Given the description of an element on the screen output the (x, y) to click on. 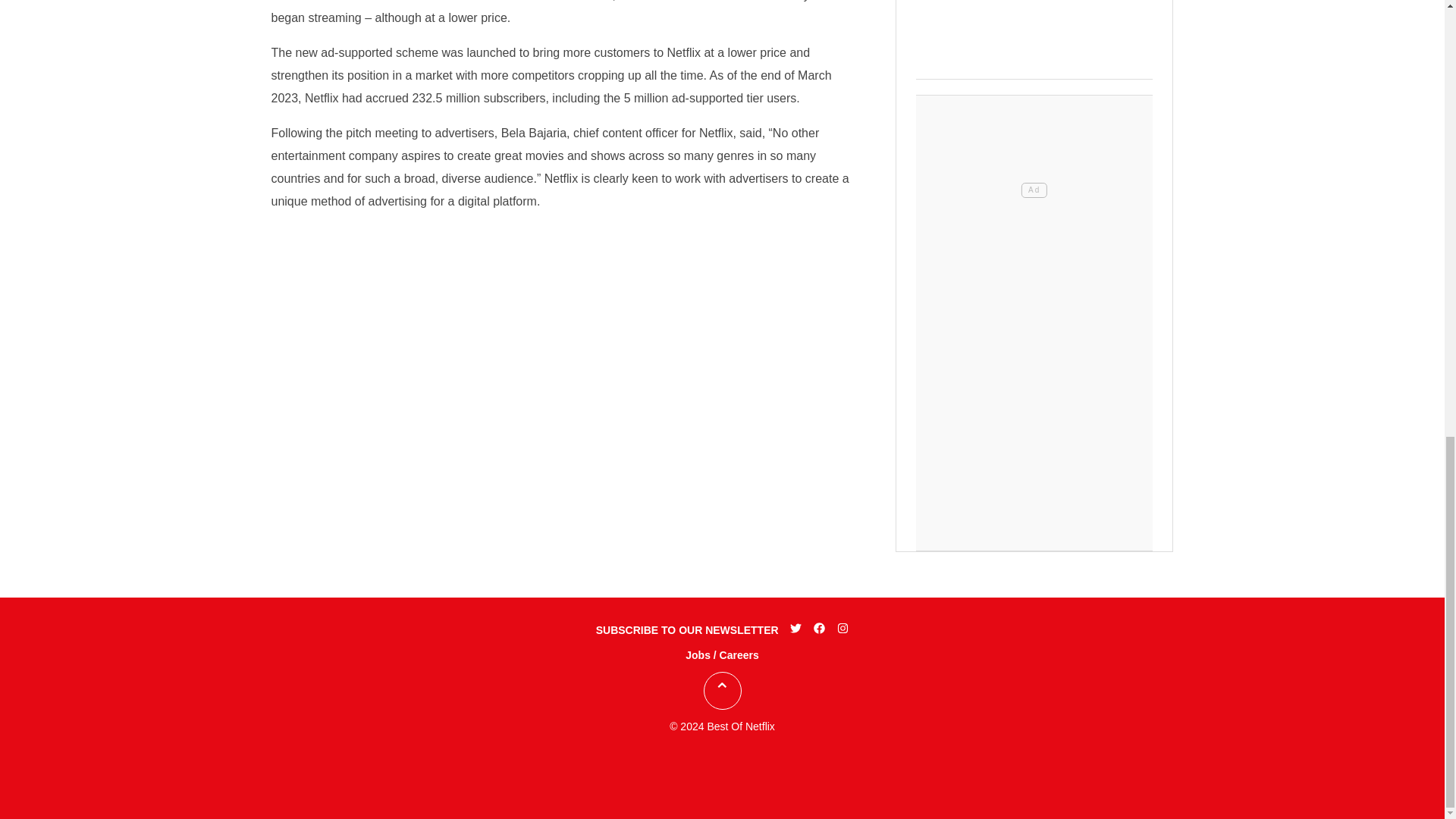
SUBSCRIBE TO OUR NEWSLETTER (687, 629)
